Given the description of an element on the screen output the (x, y) to click on. 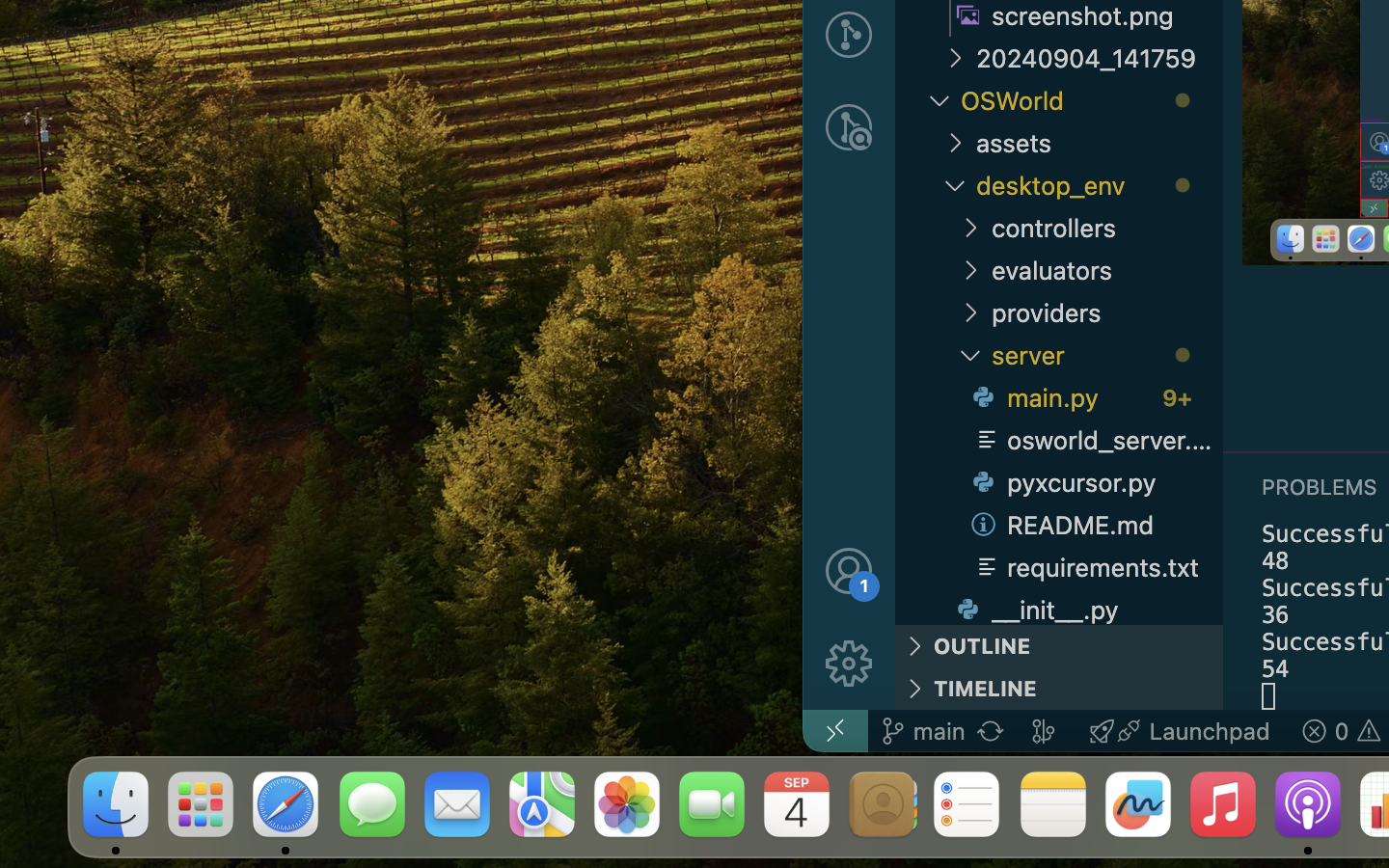
 Element type: AXStaticText (969, 312)
README.md  Element type: AXGroup (1093, 524)
